Given the description of an element on the screen output the (x, y) to click on. 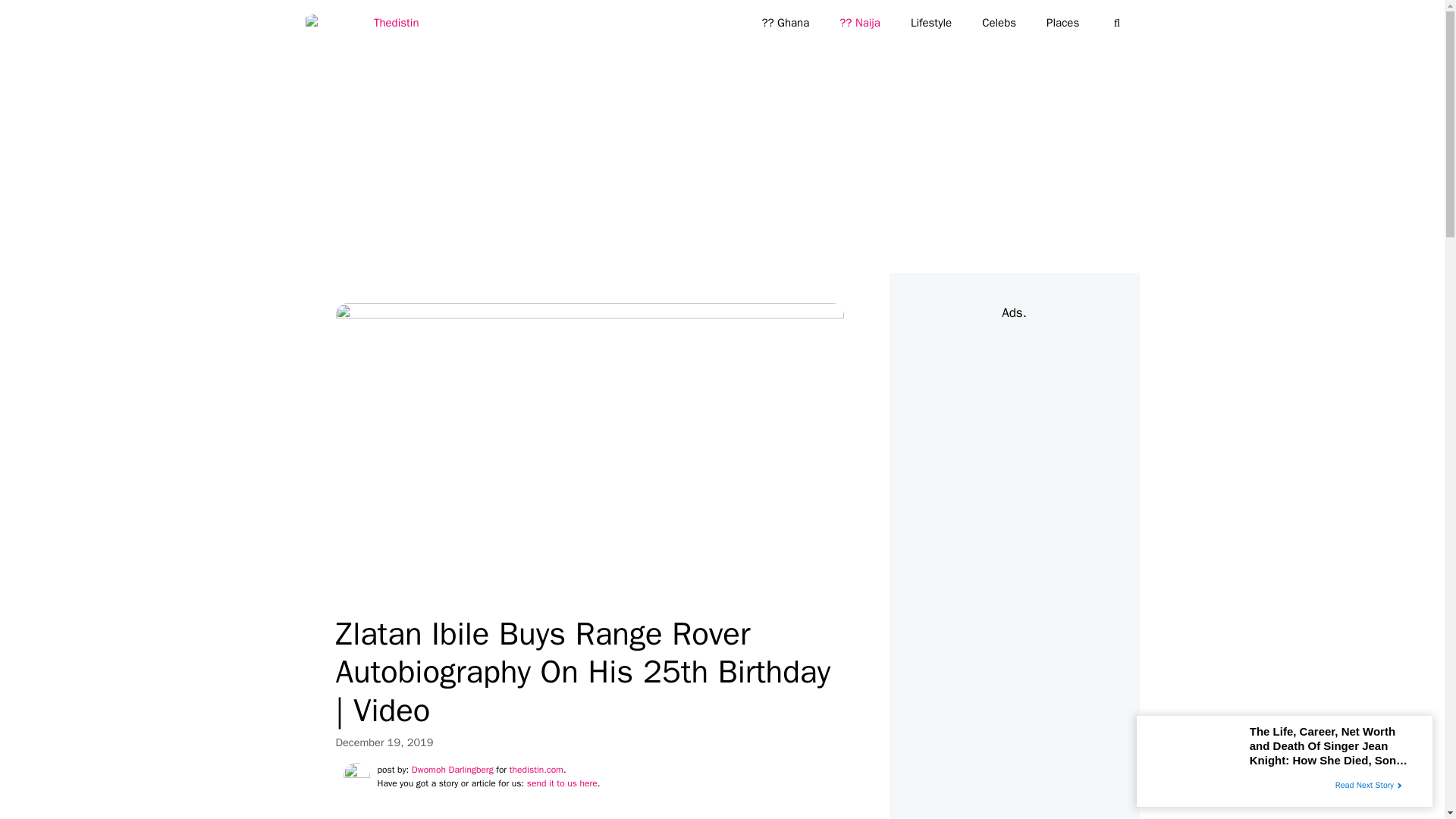
thedistin.com (536, 769)
?? Naija (859, 22)
Thedistin (361, 22)
Lifestyle (930, 22)
Places (1062, 22)
Celebs (998, 22)
send it to us here (561, 783)
?? Ghana (784, 22)
Thedistin (365, 22)
